Given the description of an element on the screen output the (x, y) to click on. 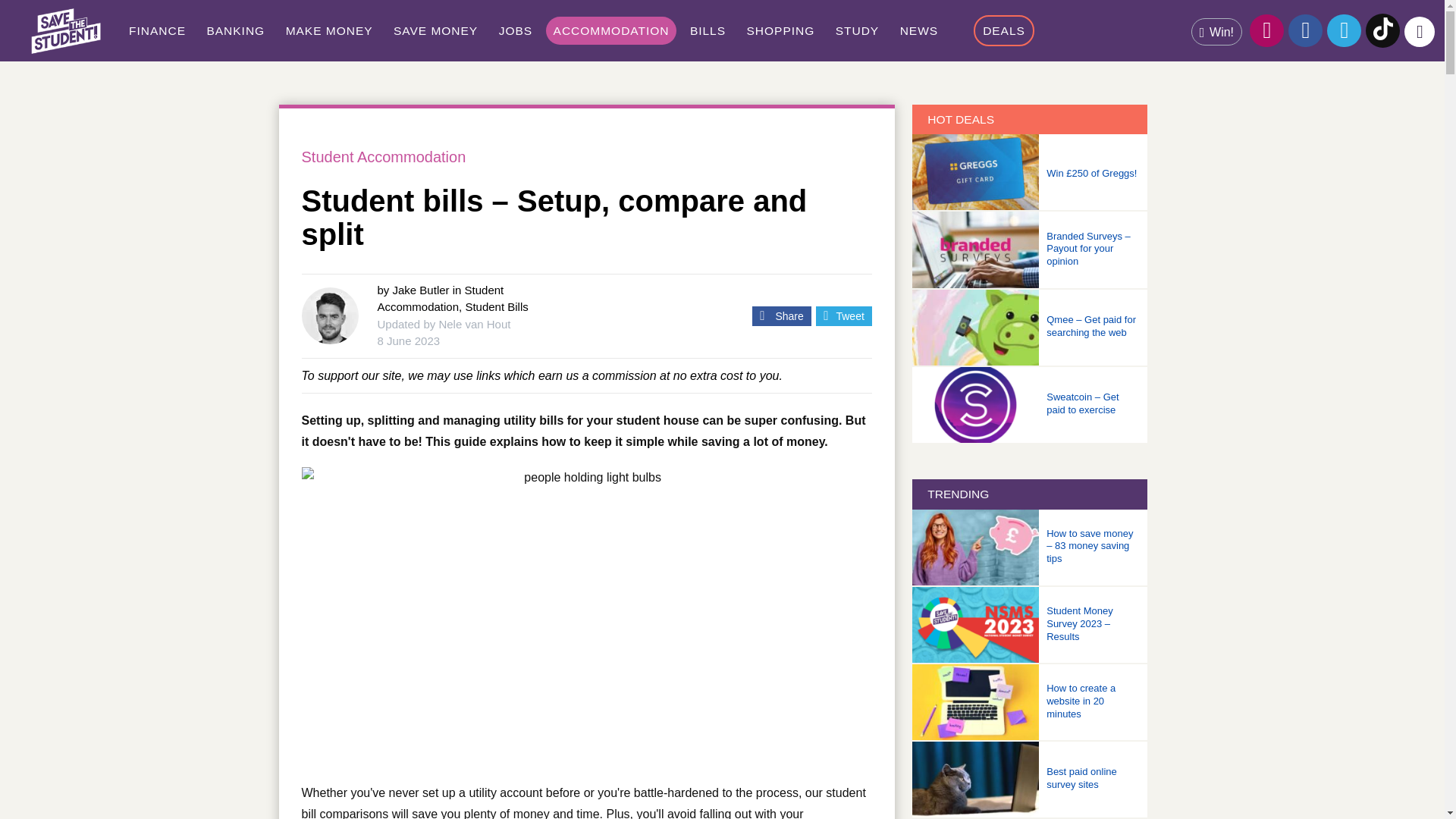
MAKE MONEY (329, 30)
SAVE MONEY (434, 30)
Student Finance (156, 30)
Study Tips (857, 30)
FINANCE (156, 30)
Shopping (780, 30)
Deals (1003, 30)
Save Money (434, 30)
BANKING (235, 30)
Make Money (329, 30)
Student Accommodation (611, 30)
